Given the description of an element on the screen output the (x, y) to click on. 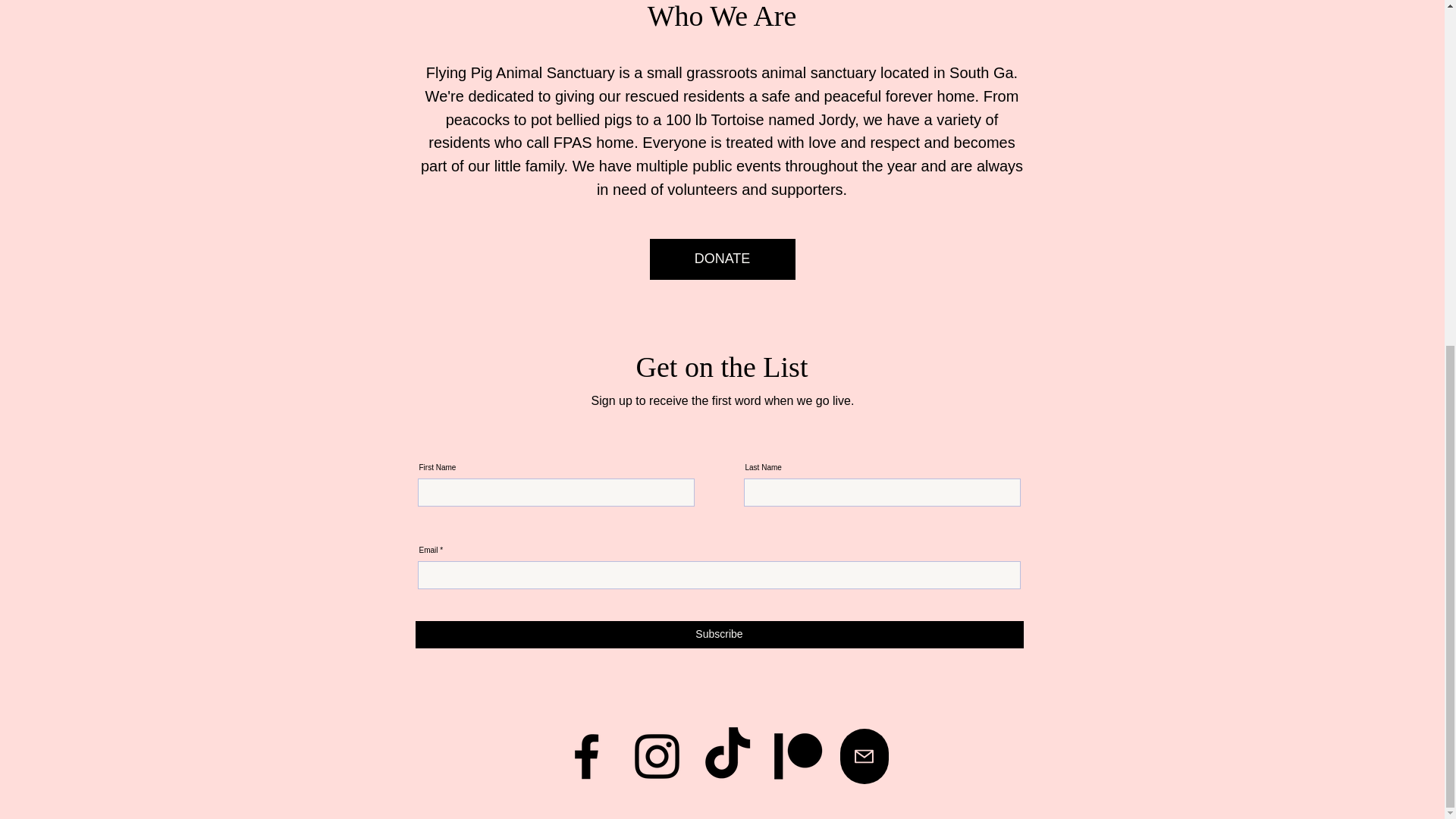
DONATE (721, 259)
Subscribe (718, 634)
